Given the description of an element on the screen output the (x, y) to click on. 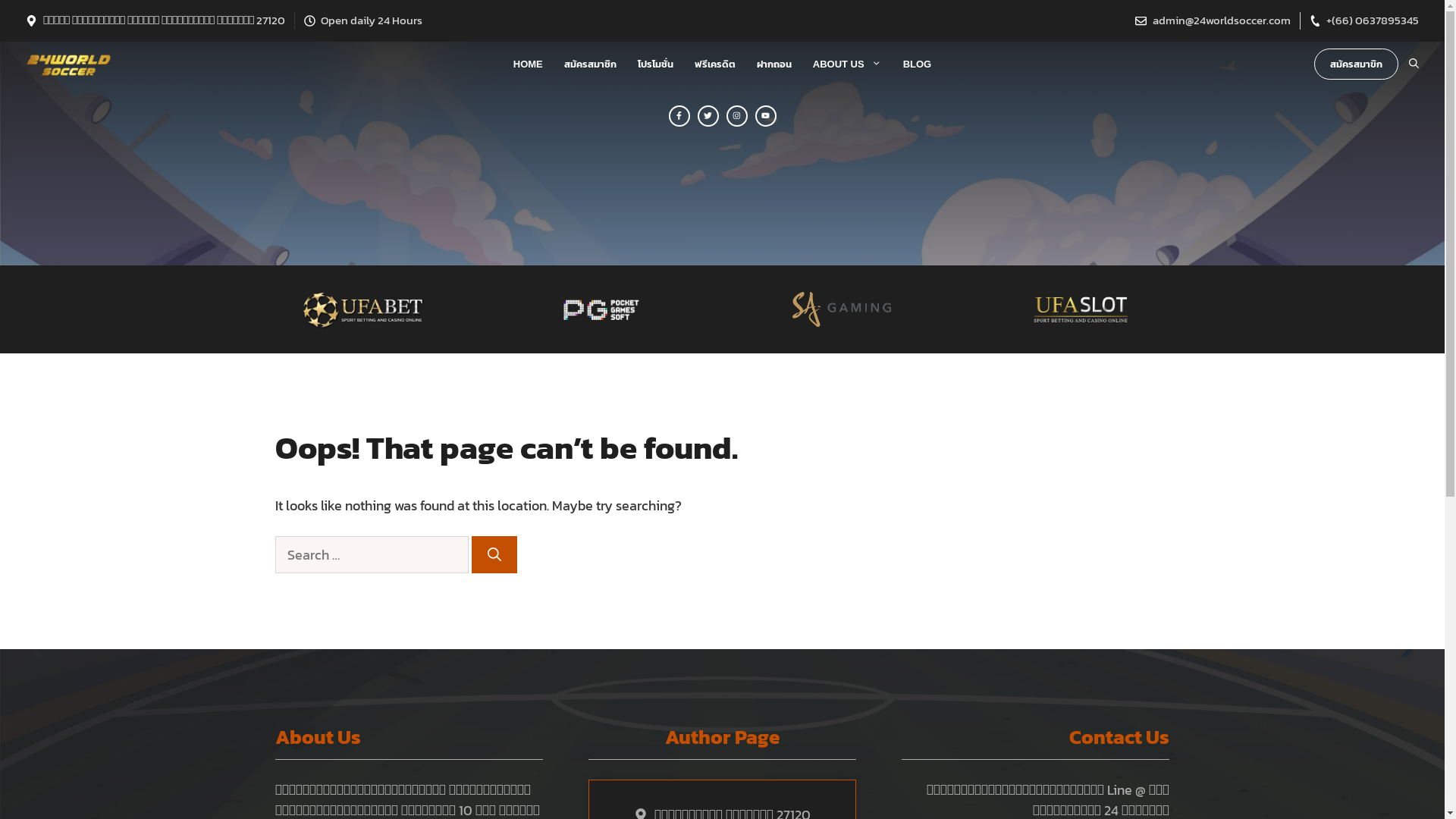
Search for: Element type: hover (370, 554)
BLOG Element type: text (917, 63)
logo Element type: hover (602, 309)
Author Page Element type: text (722, 736)
UFASLOT-768x241 Element type: hover (1080, 309)
HOME Element type: text (527, 63)
24 World Soccer Element type: hover (68, 63)
Contact Us Element type: text (1119, 736)
About Us Element type: text (317, 736)
ABOUT US Element type: text (847, 63)
logoagufa-768x250 Element type: hover (363, 309)
SA_Gaming_logo_B.457x163 Element type: hover (841, 308)
